Given the description of an element on the screen output the (x, y) to click on. 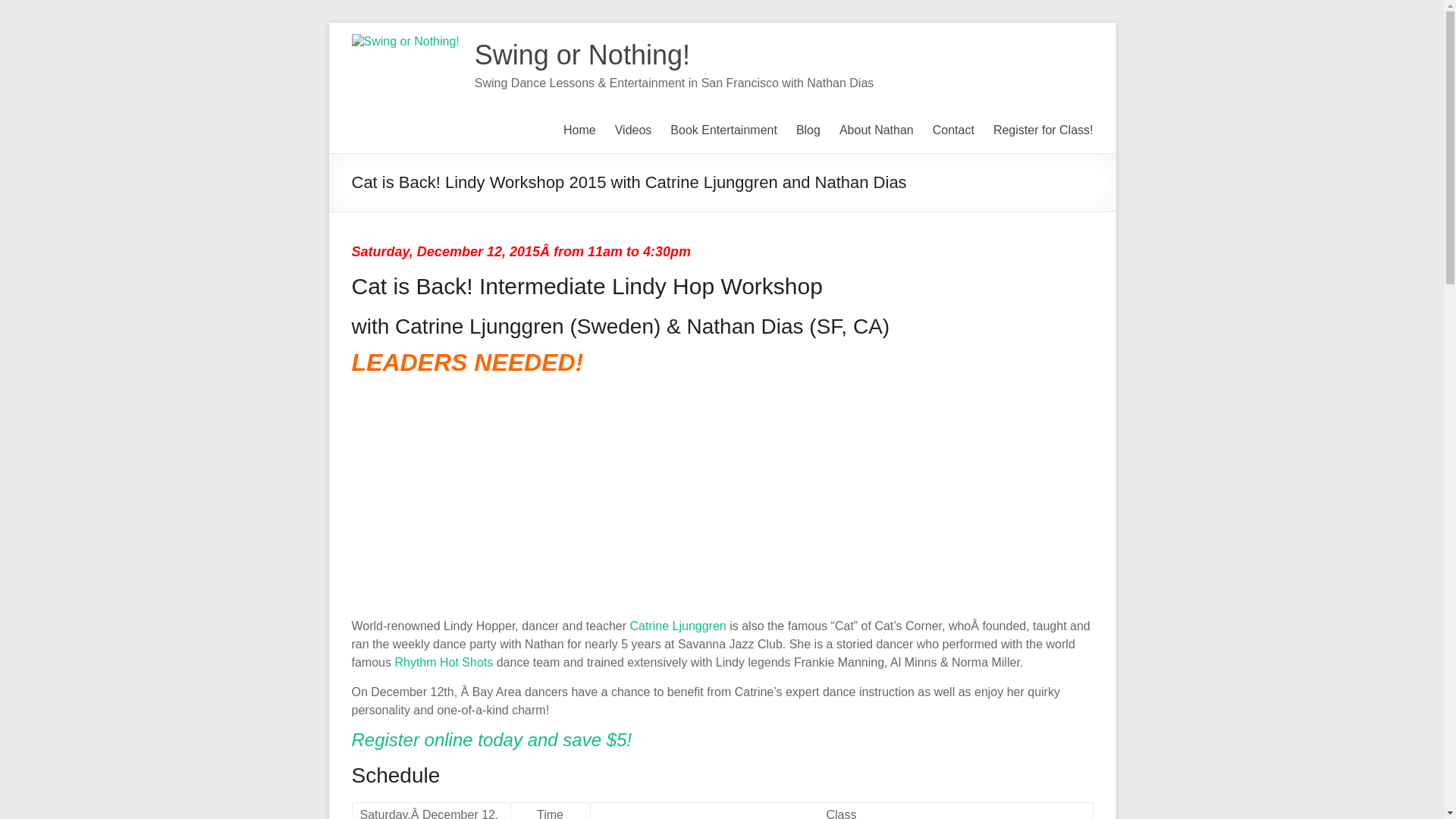
Home (579, 129)
Blog (808, 129)
Contact (953, 129)
About Nathan (877, 129)
Rhythm Hot Shots (443, 662)
Register for Class! (1042, 129)
Catrine Ljunggren (678, 625)
Swing or Nothing! (582, 54)
Swing or Nothing! (582, 54)
